Given the description of an element on the screen output the (x, y) to click on. 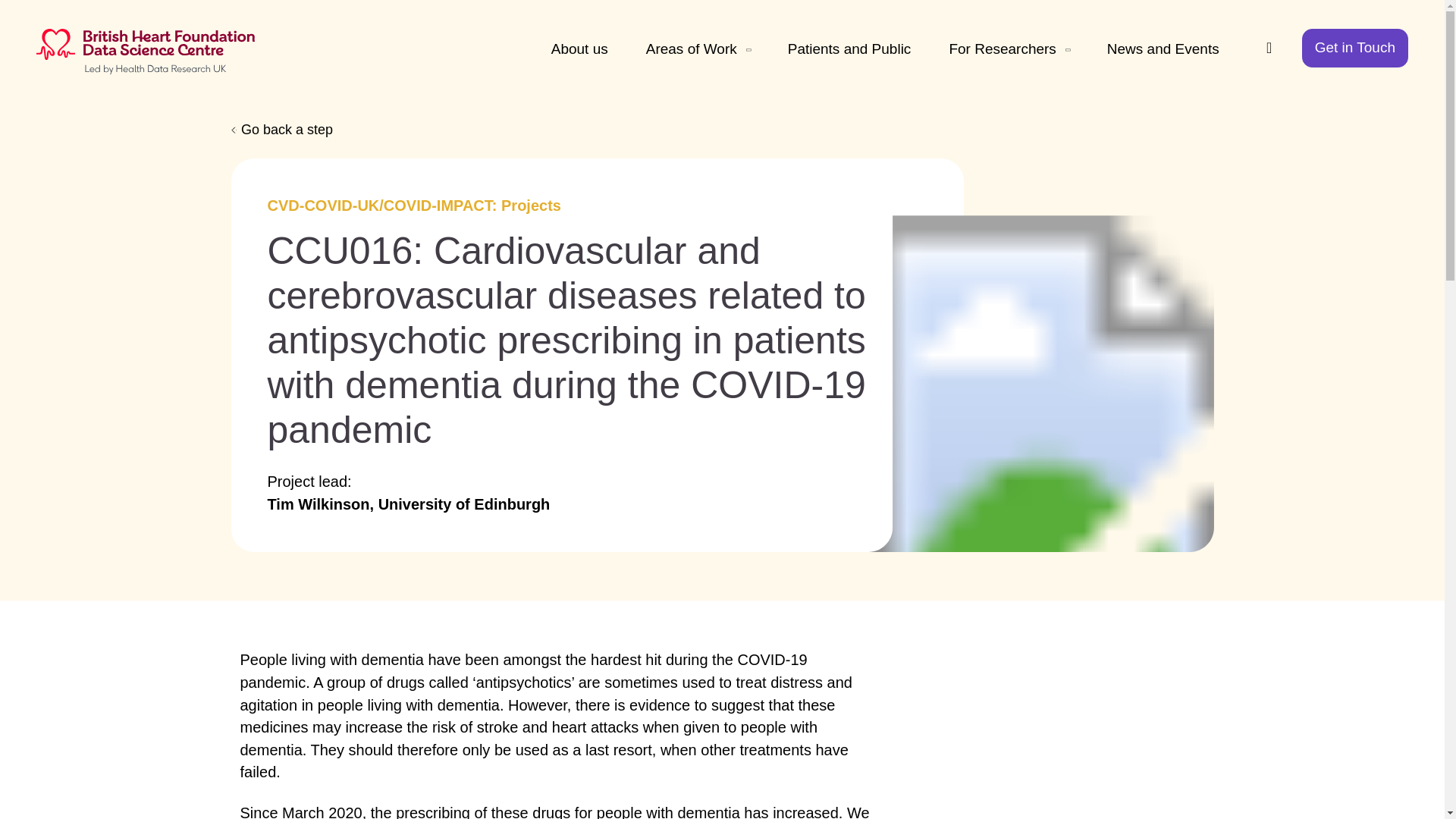
Patients and Public (849, 47)
For Researchers (1008, 47)
Areas of Work (697, 47)
About us (579, 47)
Areas of Work (697, 47)
News and Events (1162, 47)
News and Events (1162, 47)
About us (579, 47)
For Researchers (1008, 47)
Patients and Public (849, 47)
